Given the description of an element on the screen output the (x, y) to click on. 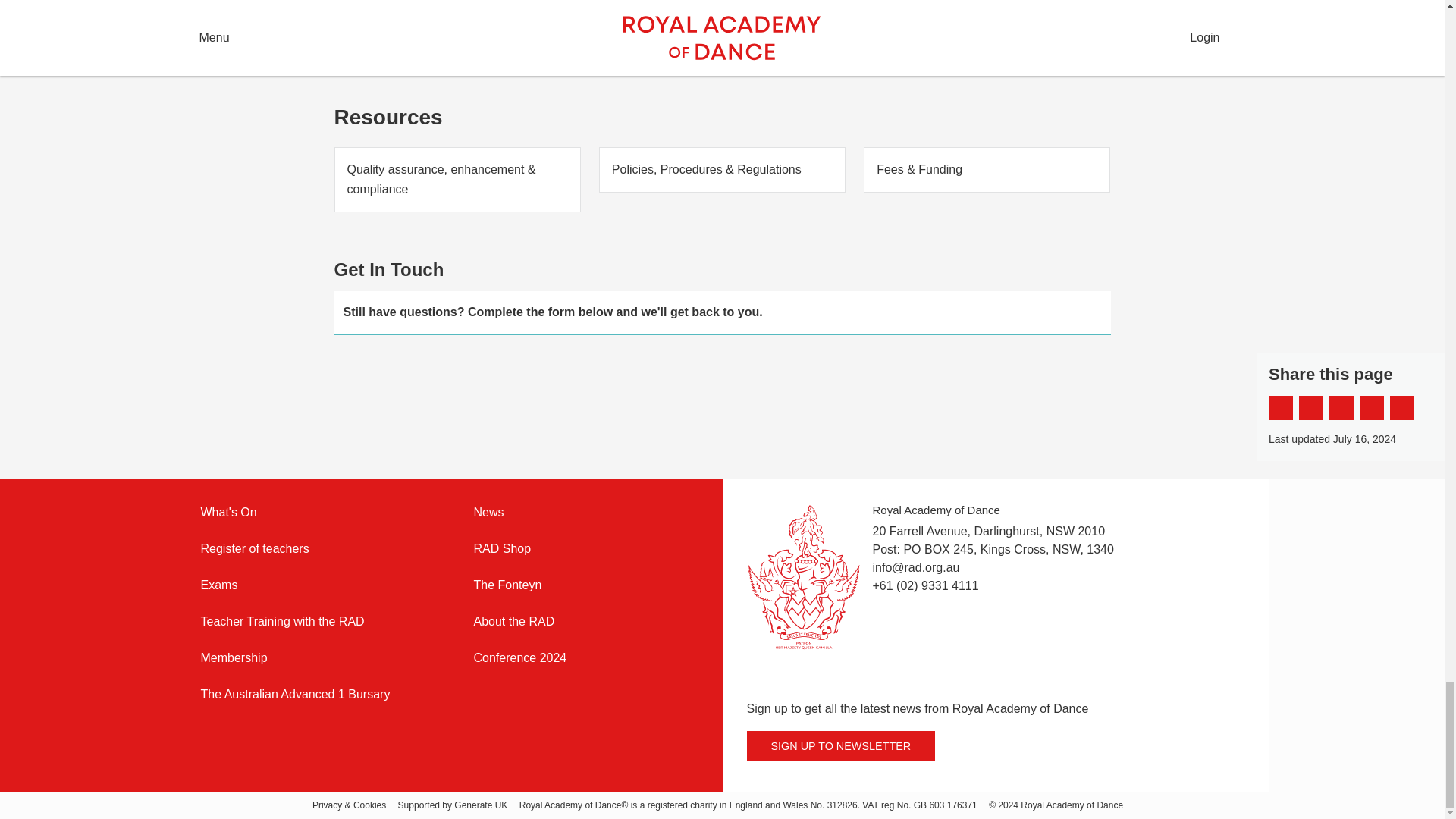
Share this page using Whatsapp (1401, 407)
Share this page on Twitter (1310, 407)
Share this page on Facebook (1280, 407)
Share this page on Twitter (1310, 407)
Share this page on Facebook (1280, 407)
Share this page via email (1341, 407)
Share this page using Whatsapp (1401, 407)
Share this page on linkedin (1371, 407)
Share this page on linkedin (1371, 407)
Share this page via email (1341, 407)
